Given the description of an element on the screen output the (x, y) to click on. 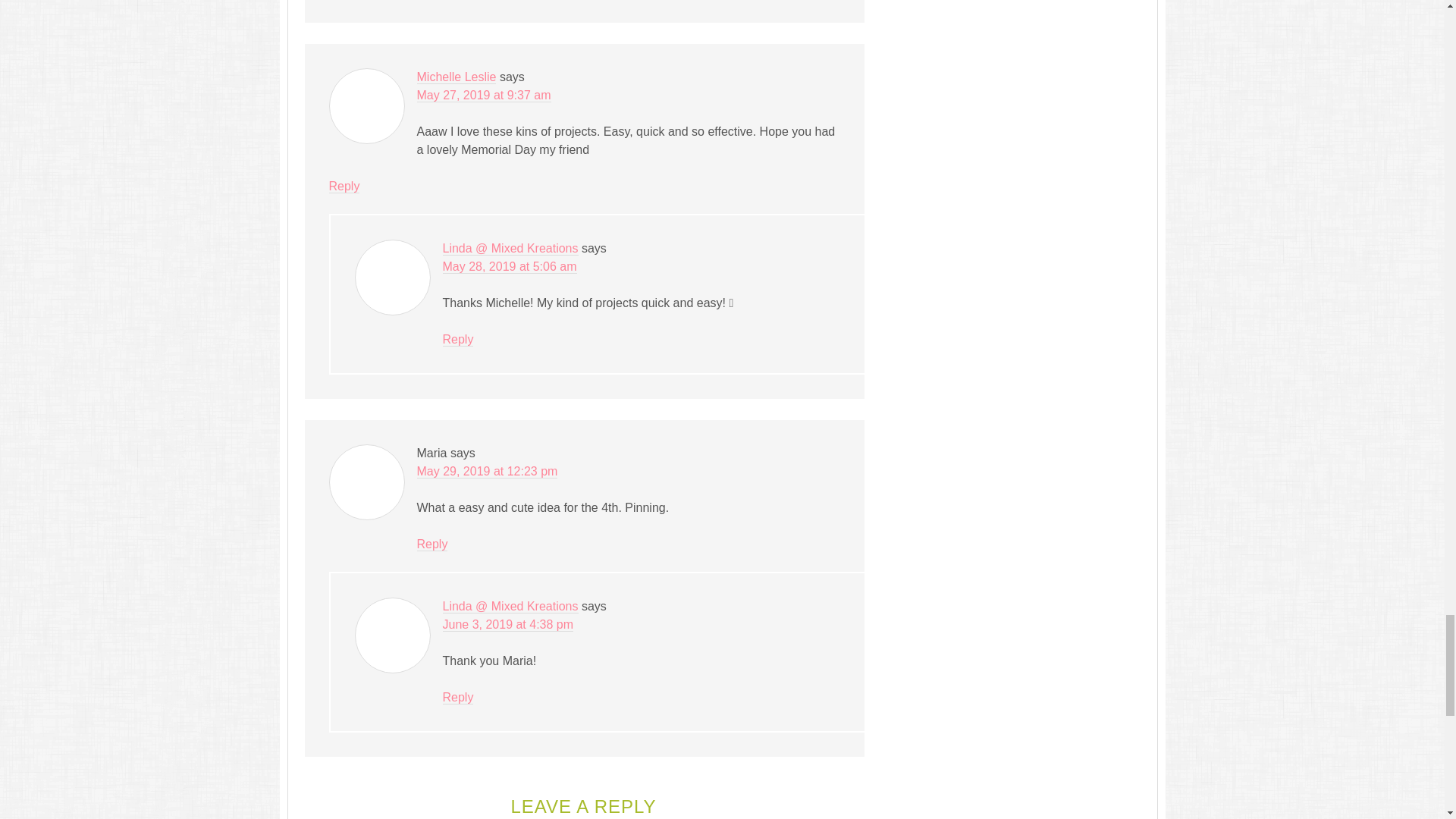
May 29, 2019 at 12:23 pm (486, 471)
May 27, 2019 at 9:37 am (483, 95)
Reply (458, 339)
Michelle Leslie (456, 77)
May 28, 2019 at 5:06 am (509, 266)
Reply (344, 186)
